Given the description of an element on the screen output the (x, y) to click on. 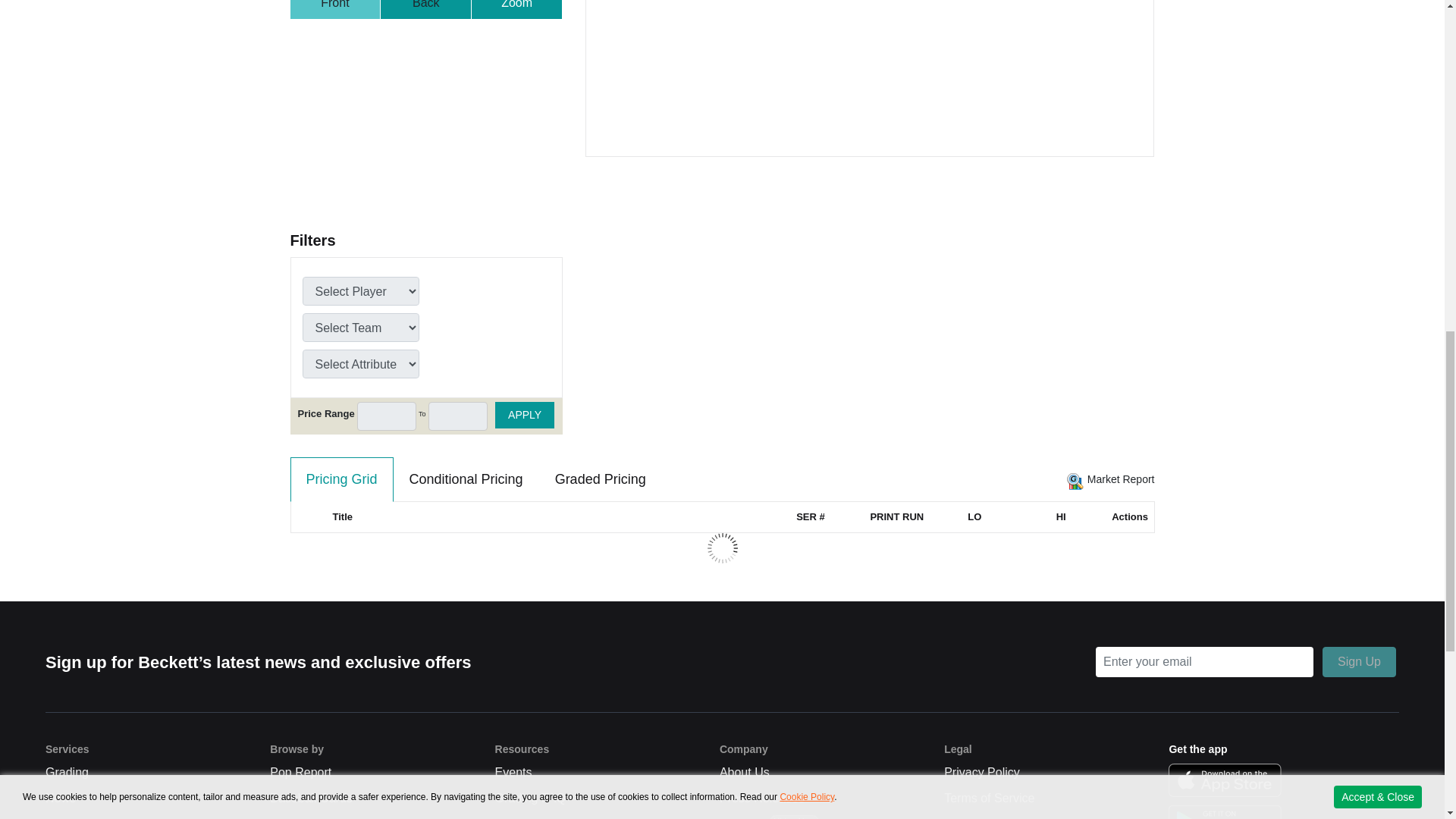
Sign Up (1359, 662)
apply (524, 415)
News (60, 798)
Grading (66, 772)
Online Price Guide (96, 816)
Pop Report (300, 772)
Baseball Cards (310, 798)
Please login to use price range filter (457, 416)
Please login to use price range filter (386, 416)
